Given the description of an element on the screen output the (x, y) to click on. 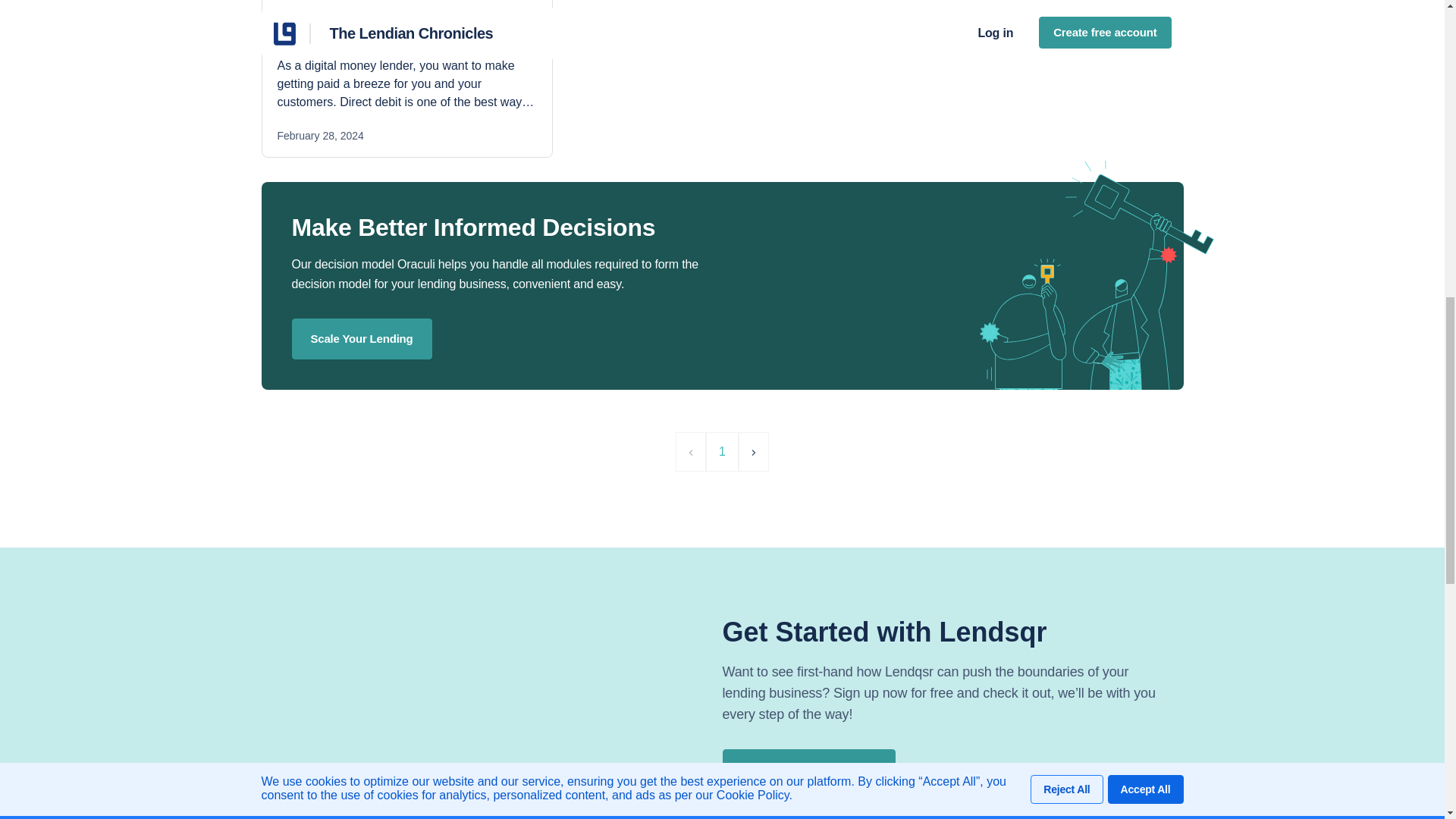
Scale Your Lending (360, 338)
Scale Your Lending (360, 338)
How to use Remita for your loan repayments on Lendsqr (394, 29)
Create Your Free Account (808, 768)
Create Your Free Account (808, 769)
